Given the description of an element on the screen output the (x, y) to click on. 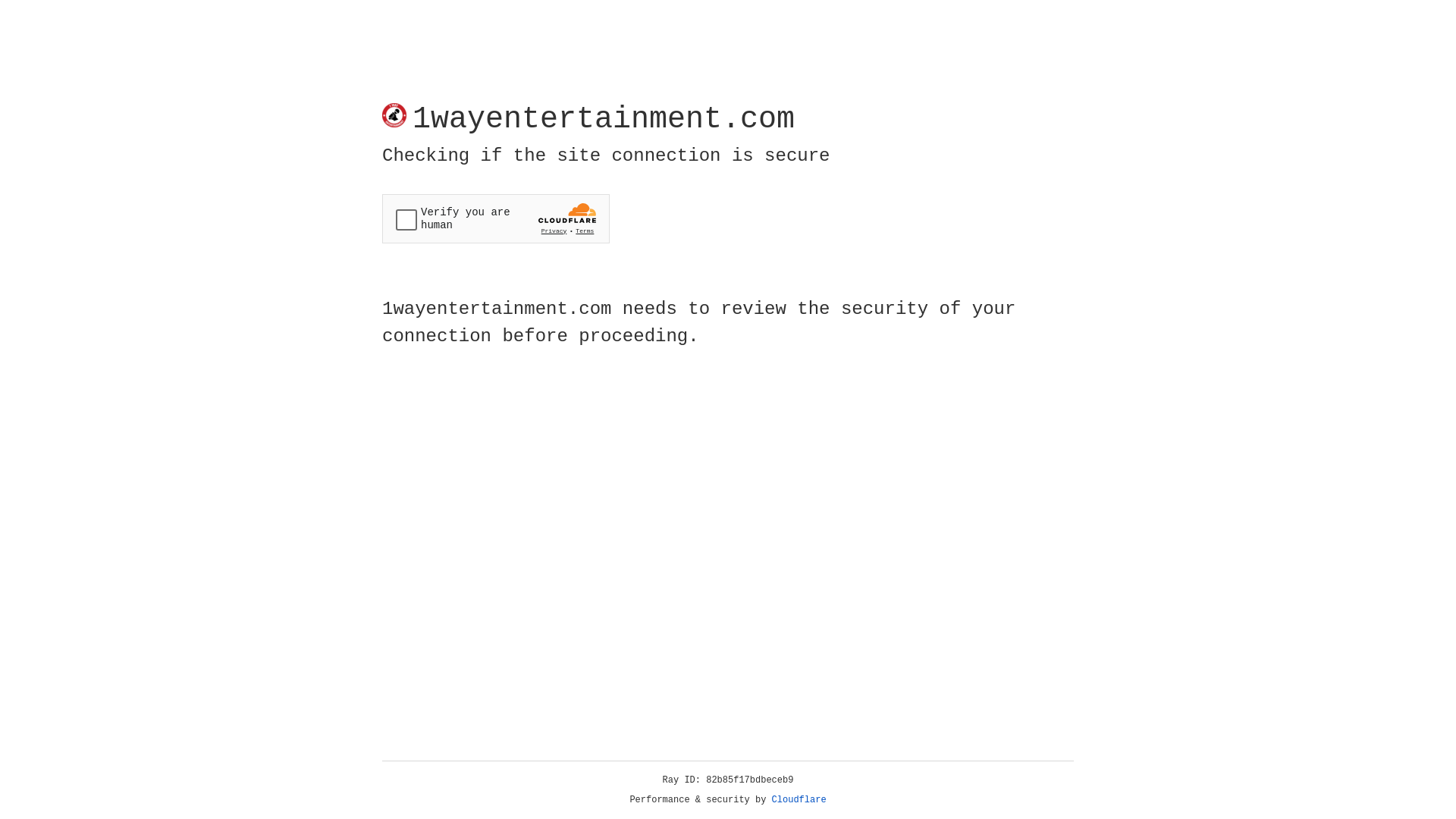
Cloudflare Element type: text (798, 799)
Widget containing a Cloudflare security challenge Element type: hover (495, 218)
